Given the description of an element on the screen output the (x, y) to click on. 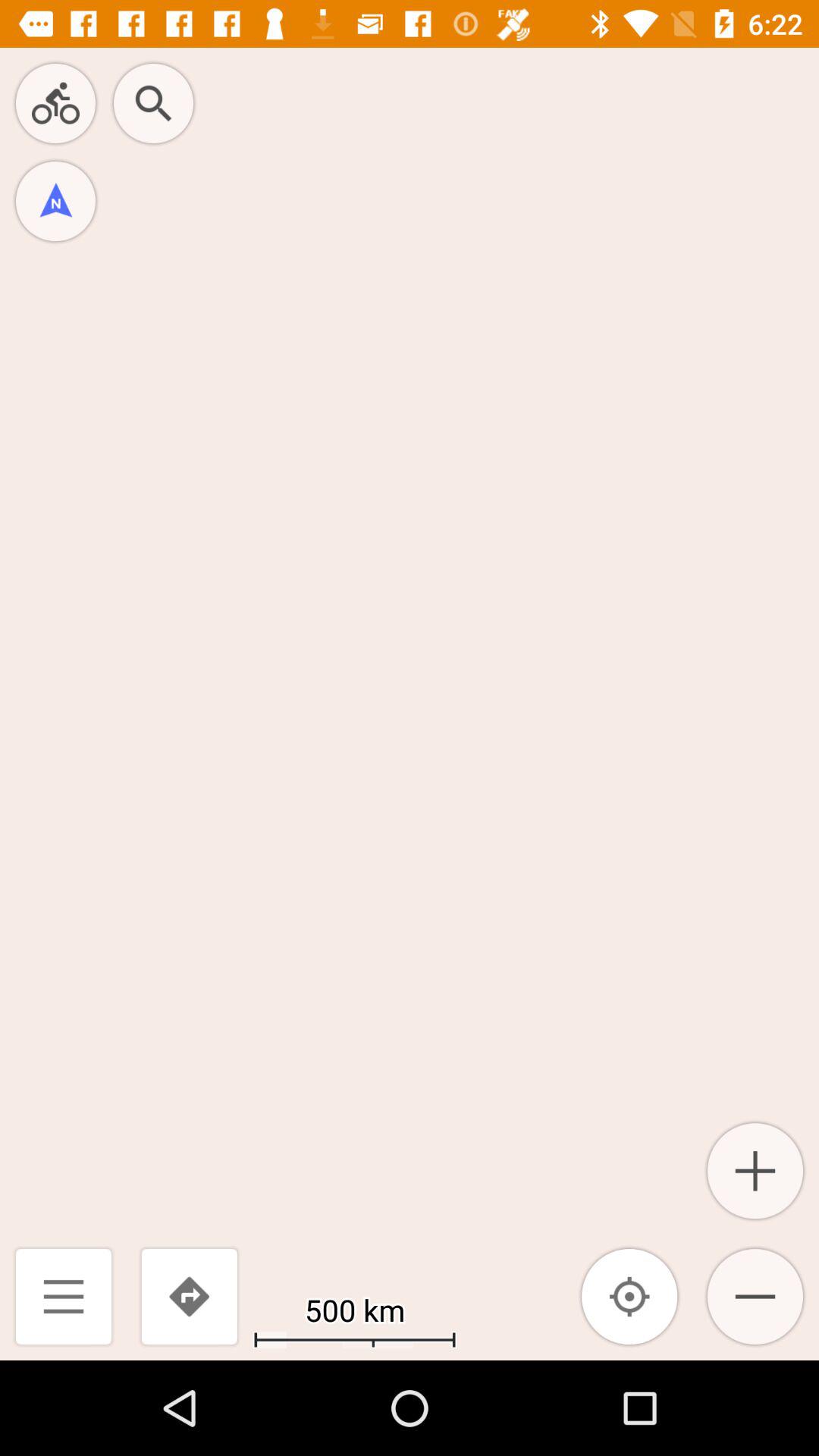
select the icon next to the 500 km icon (189, 1296)
